Given the description of an element on the screen output the (x, y) to click on. 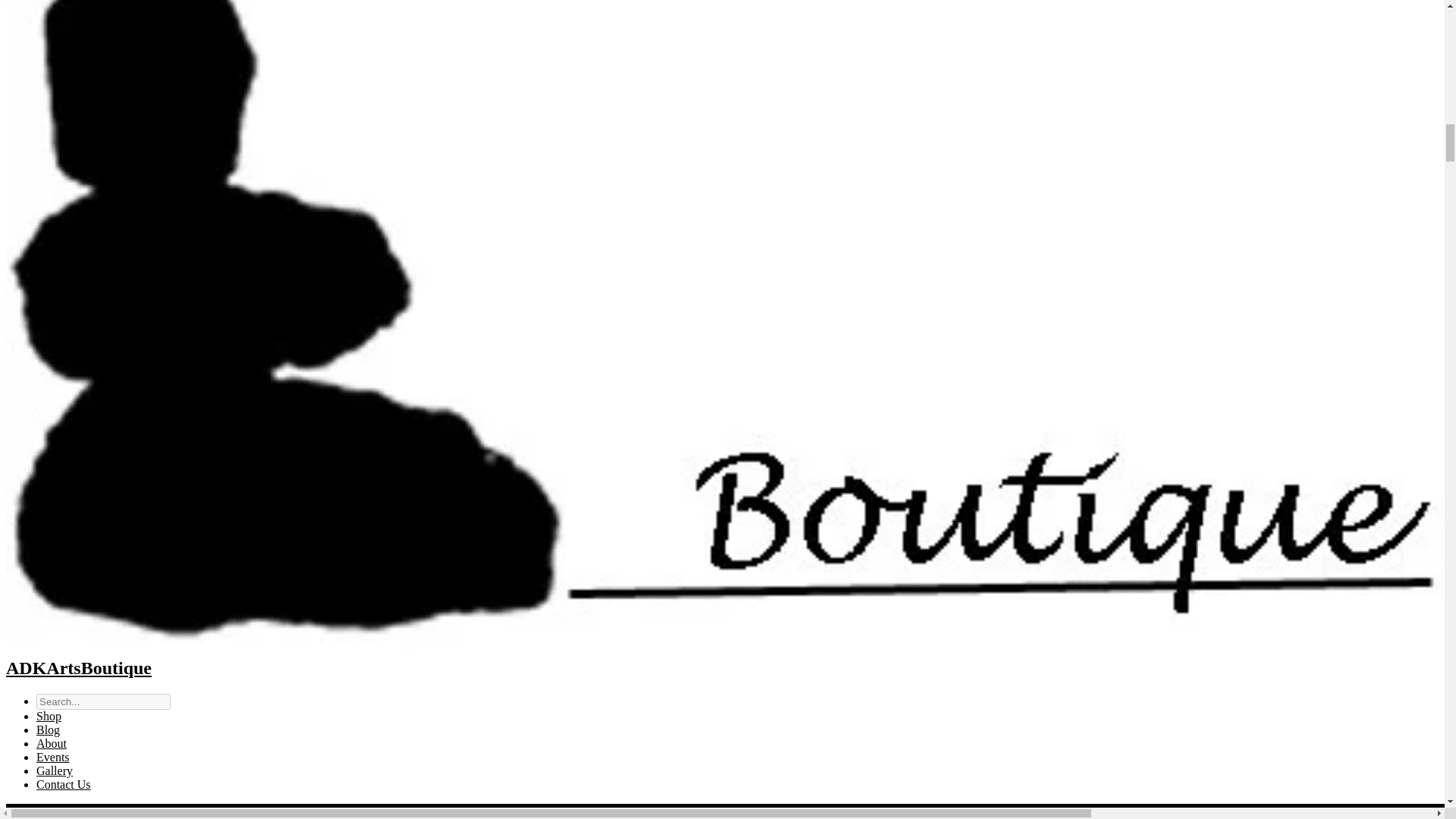
Blog (47, 729)
Contact Us (63, 784)
About (51, 743)
Shop (48, 716)
Events (52, 757)
Gallery (54, 770)
